Given the description of an element on the screen output the (x, y) to click on. 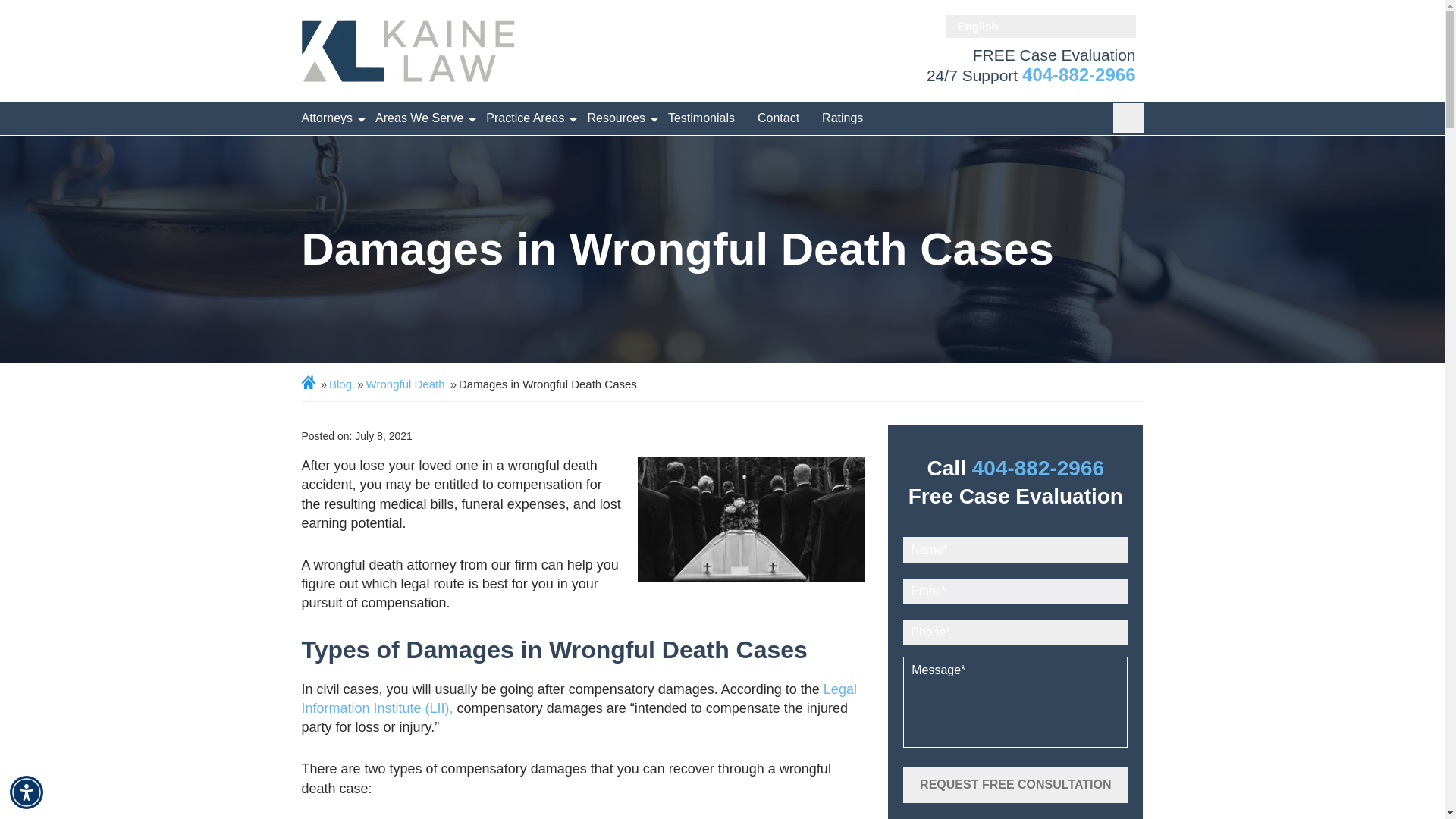
request free consultation (1014, 784)
Accessibility Menu (26, 792)
Attorneys (327, 118)
English (1040, 26)
404-882-2966 (1078, 74)
Areas We Serve (419, 118)
